Given the description of an element on the screen output the (x, y) to click on. 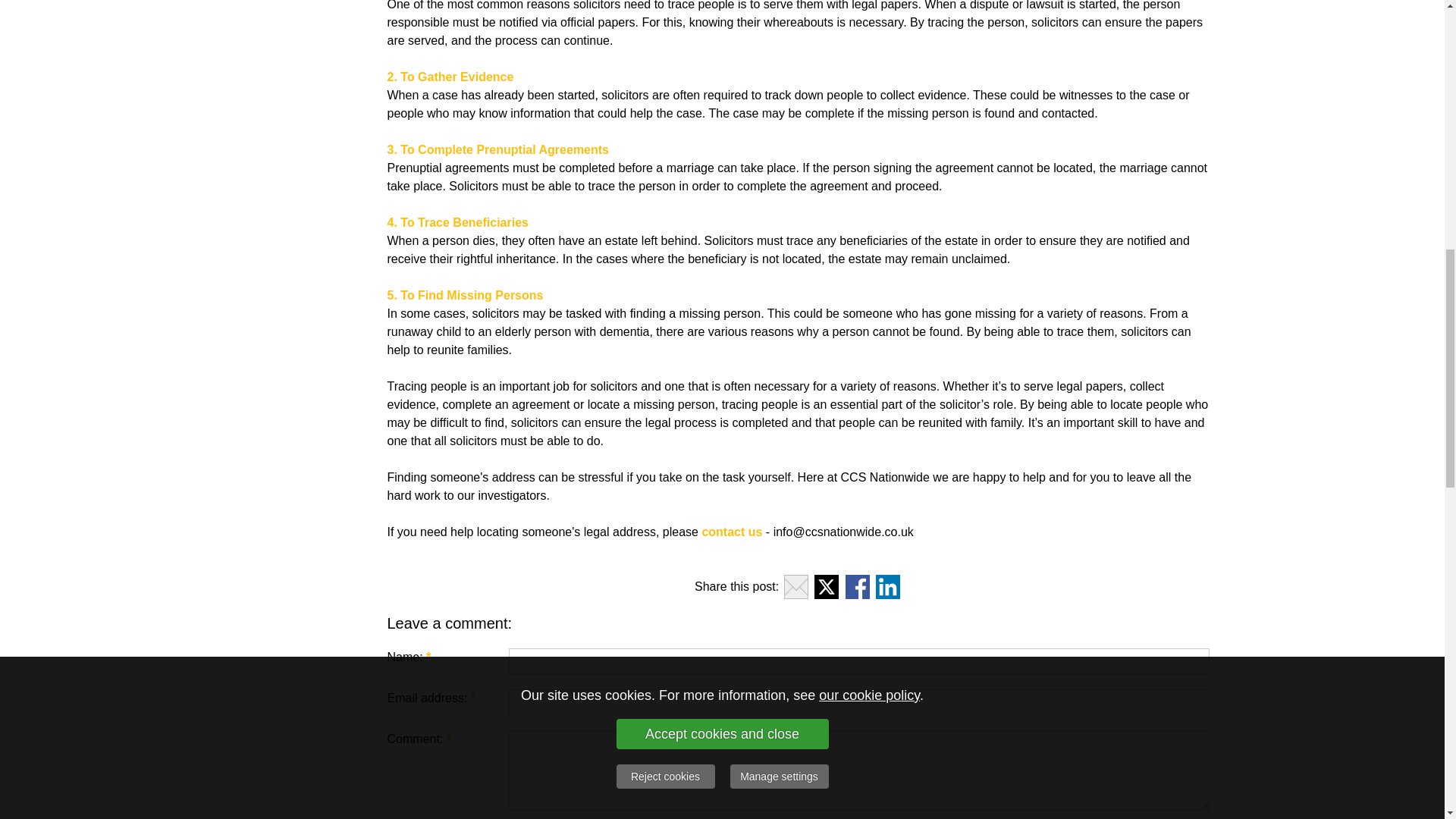
contact us (731, 531)
